Given the description of an element on the screen output the (x, y) to click on. 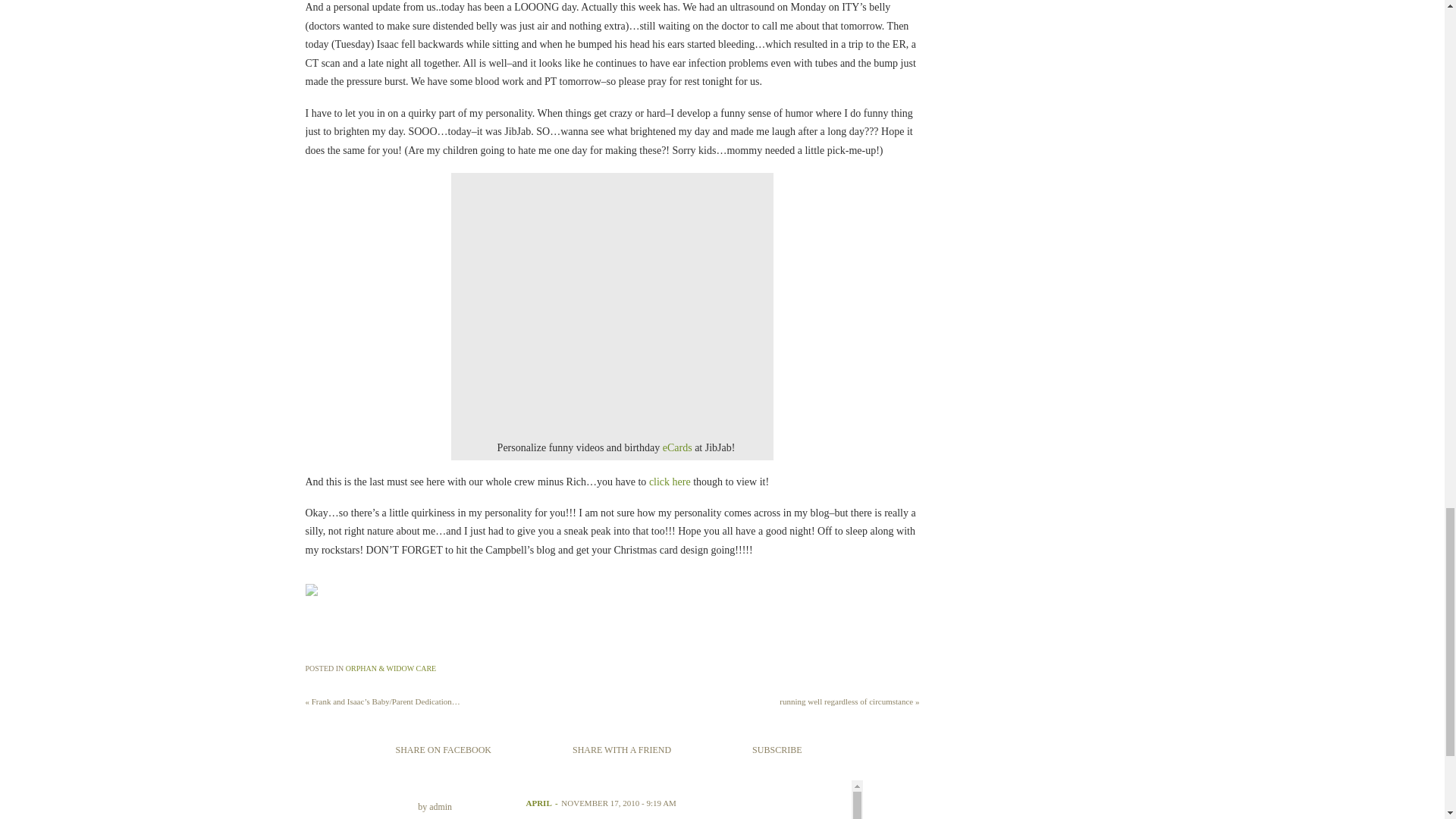
View posts by admin (440, 806)
Pin It on Pinterest (320, 633)
